Given the description of an element on the screen output the (x, y) to click on. 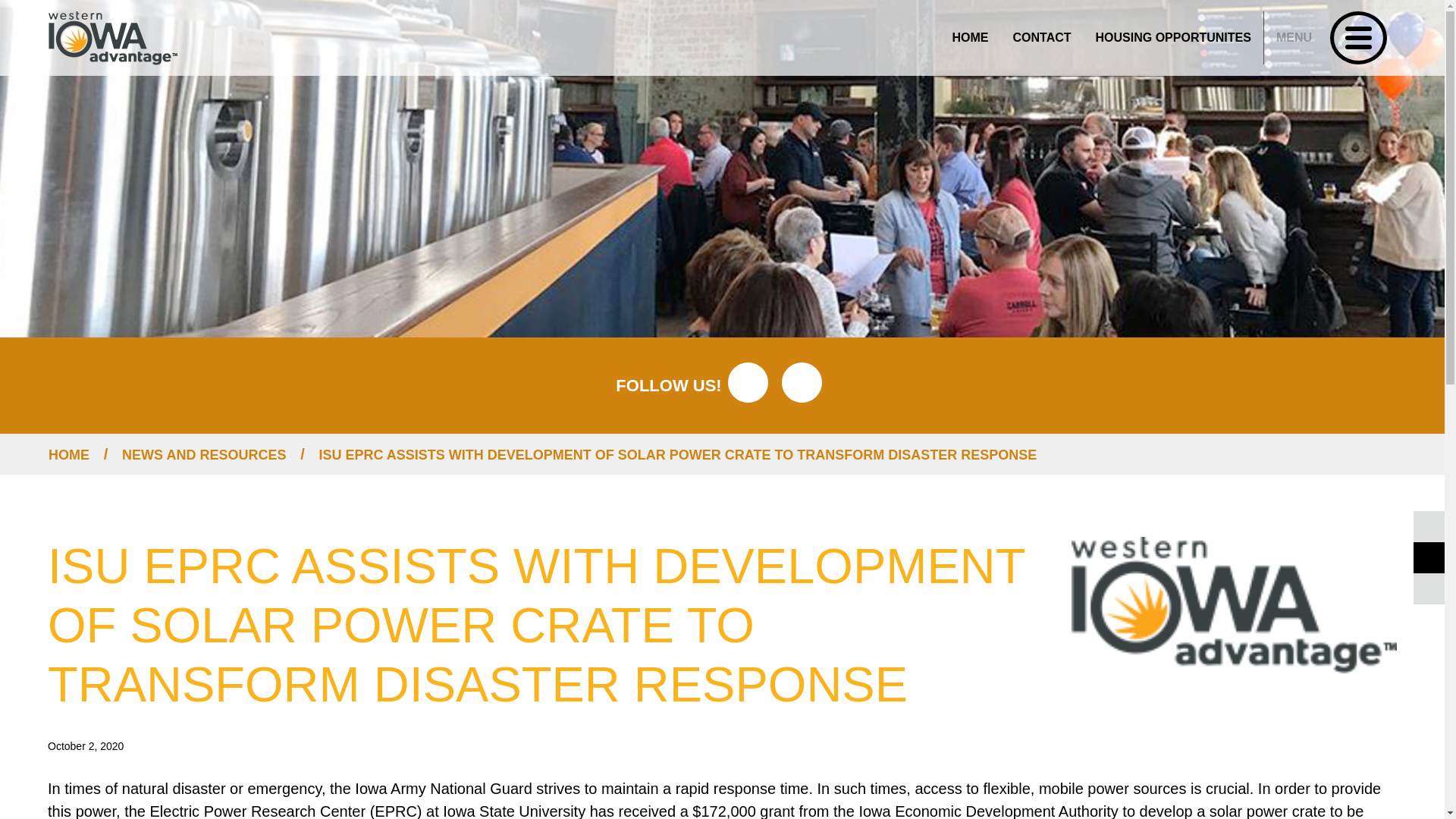
HOUSING OPPORTUNITES (1331, 37)
CONTACT (1173, 37)
HOME (1042, 37)
